Given the description of an element on the screen output the (x, y) to click on. 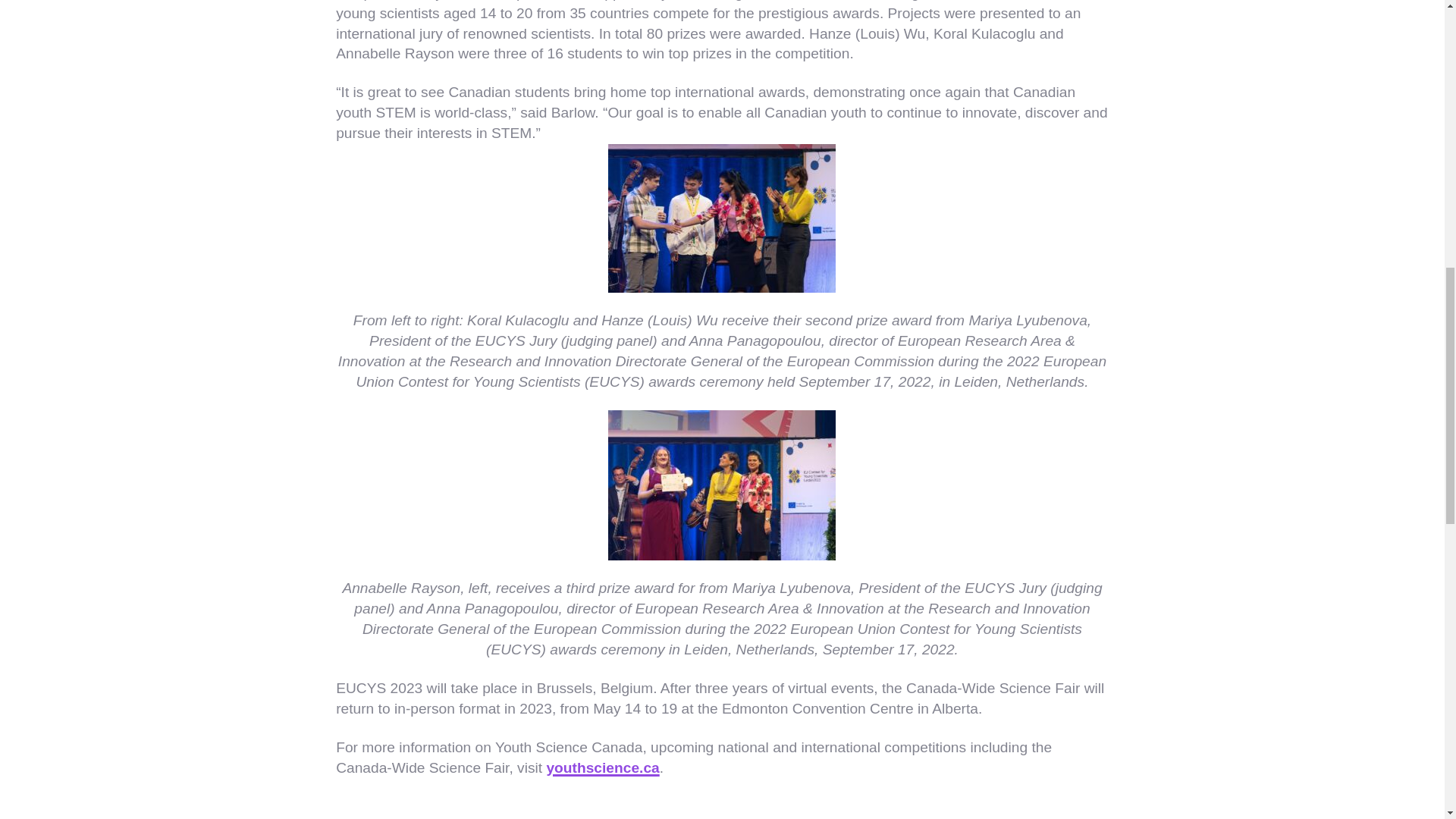
youthscience.ca (602, 767)
